Given the description of an element on the screen output the (x, y) to click on. 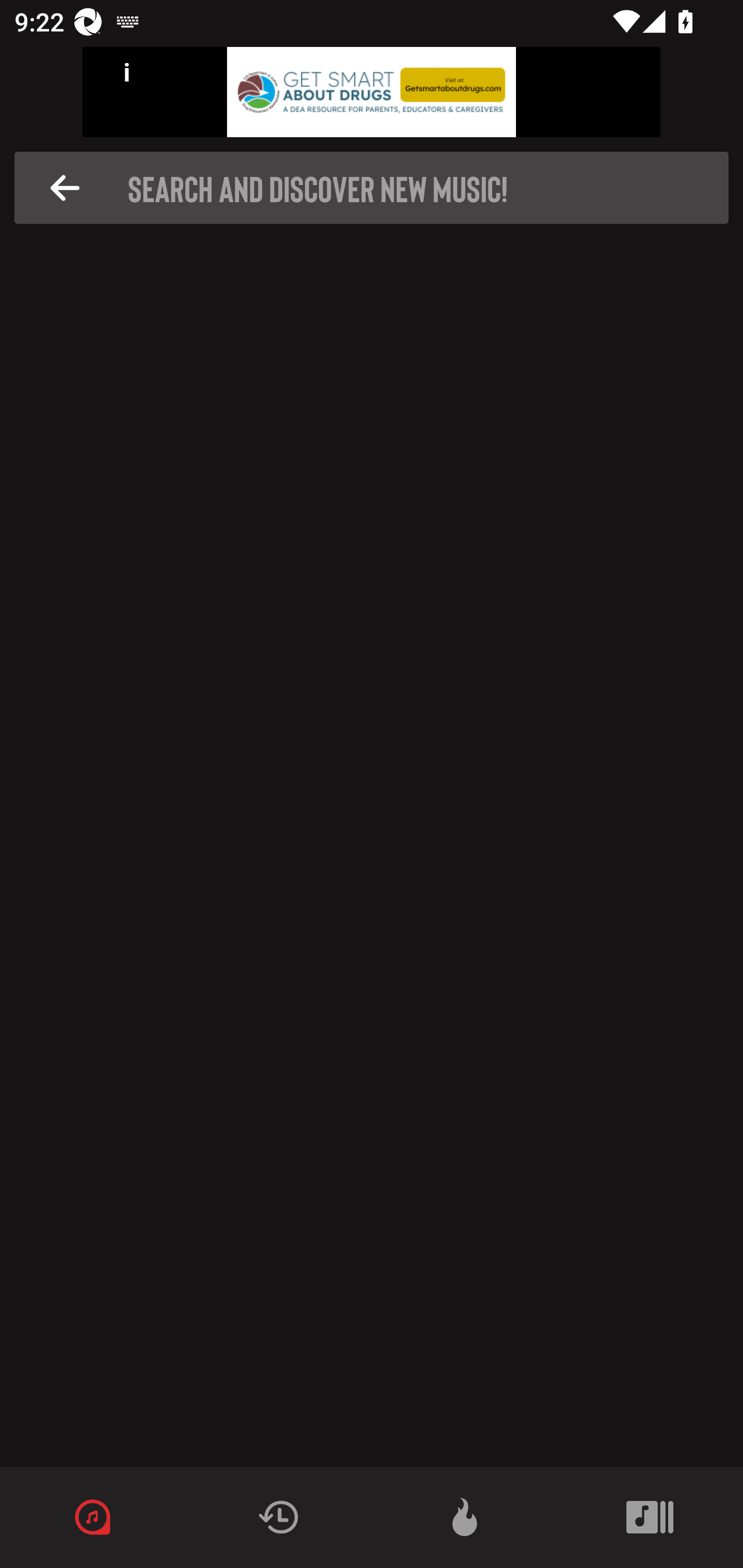
SEARCH AND DISCOVER NEW MUSIC! (377, 188)
Description (64, 188)
